Given the description of an element on the screen output the (x, y) to click on. 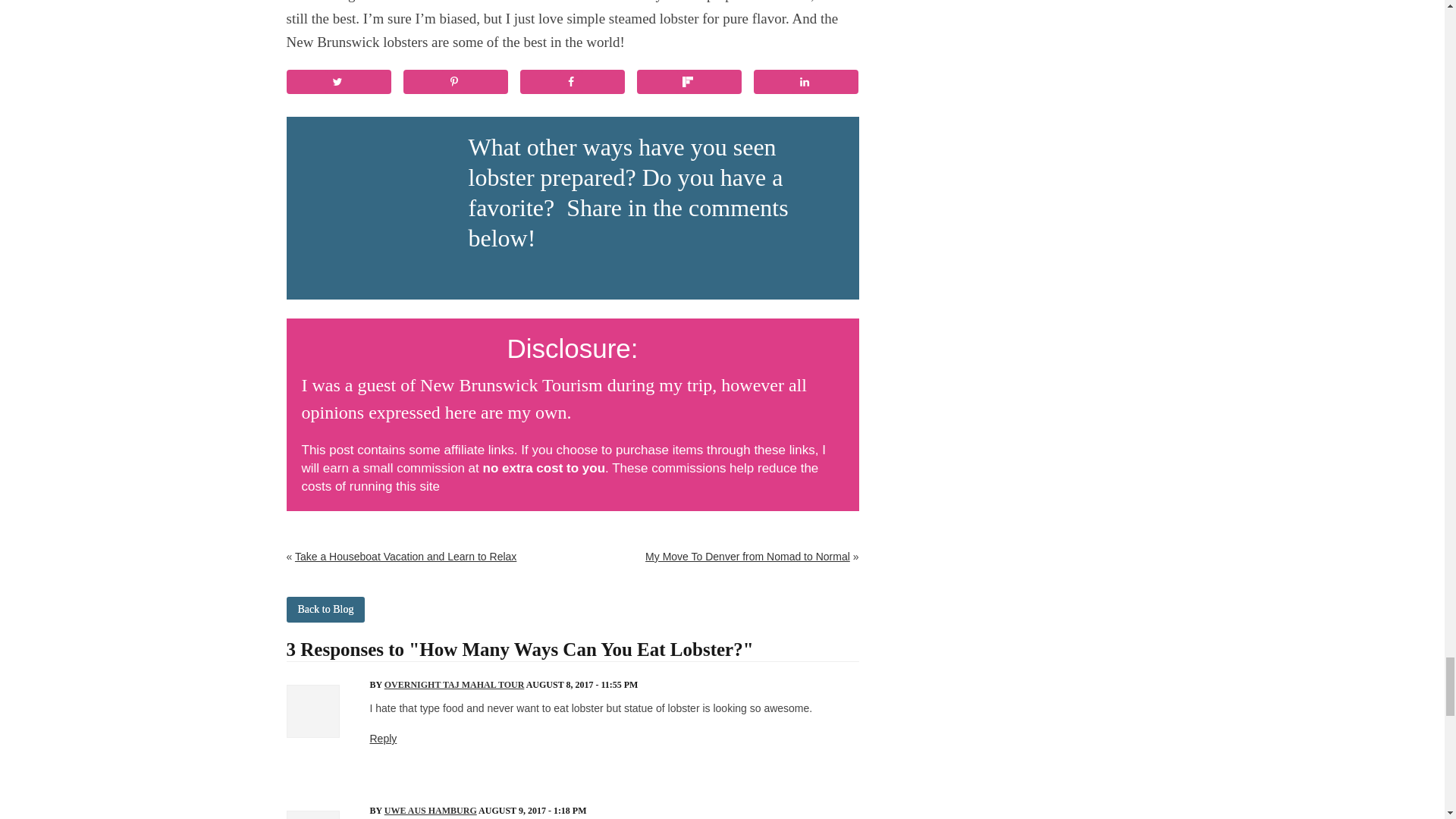
Save to Pinterest (455, 81)
Share on Facebook (572, 81)
Share on Twitter (338, 81)
